Given the description of an element on the screen output the (x, y) to click on. 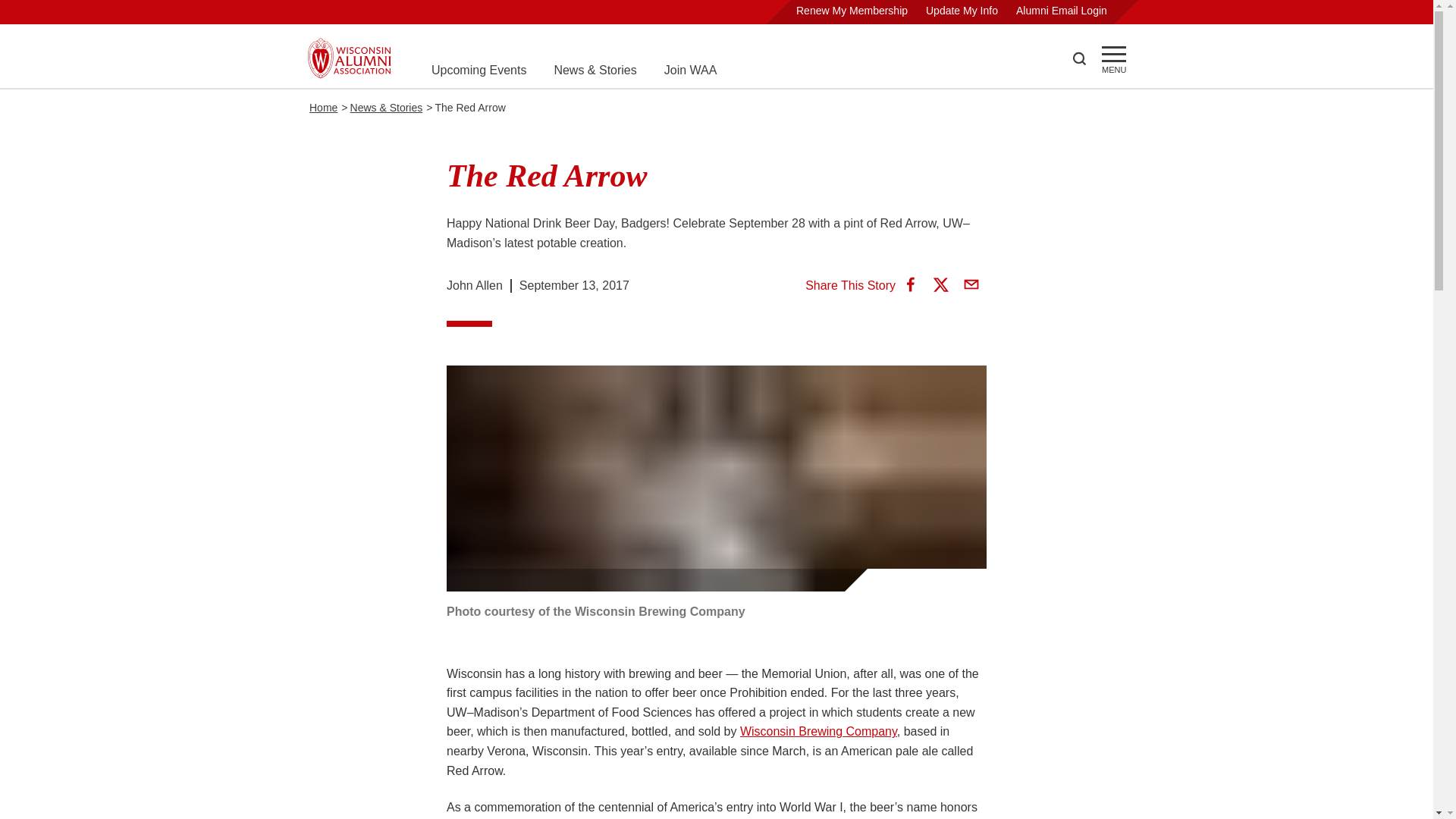
Wisconsin Brewing Company (817, 730)
Renew My Membership (851, 10)
Join WAA (690, 70)
Home (322, 107)
Alumni Email Login (1061, 10)
Update My Info (961, 10)
Upcoming Events (477, 70)
